Given the description of an element on the screen output the (x, y) to click on. 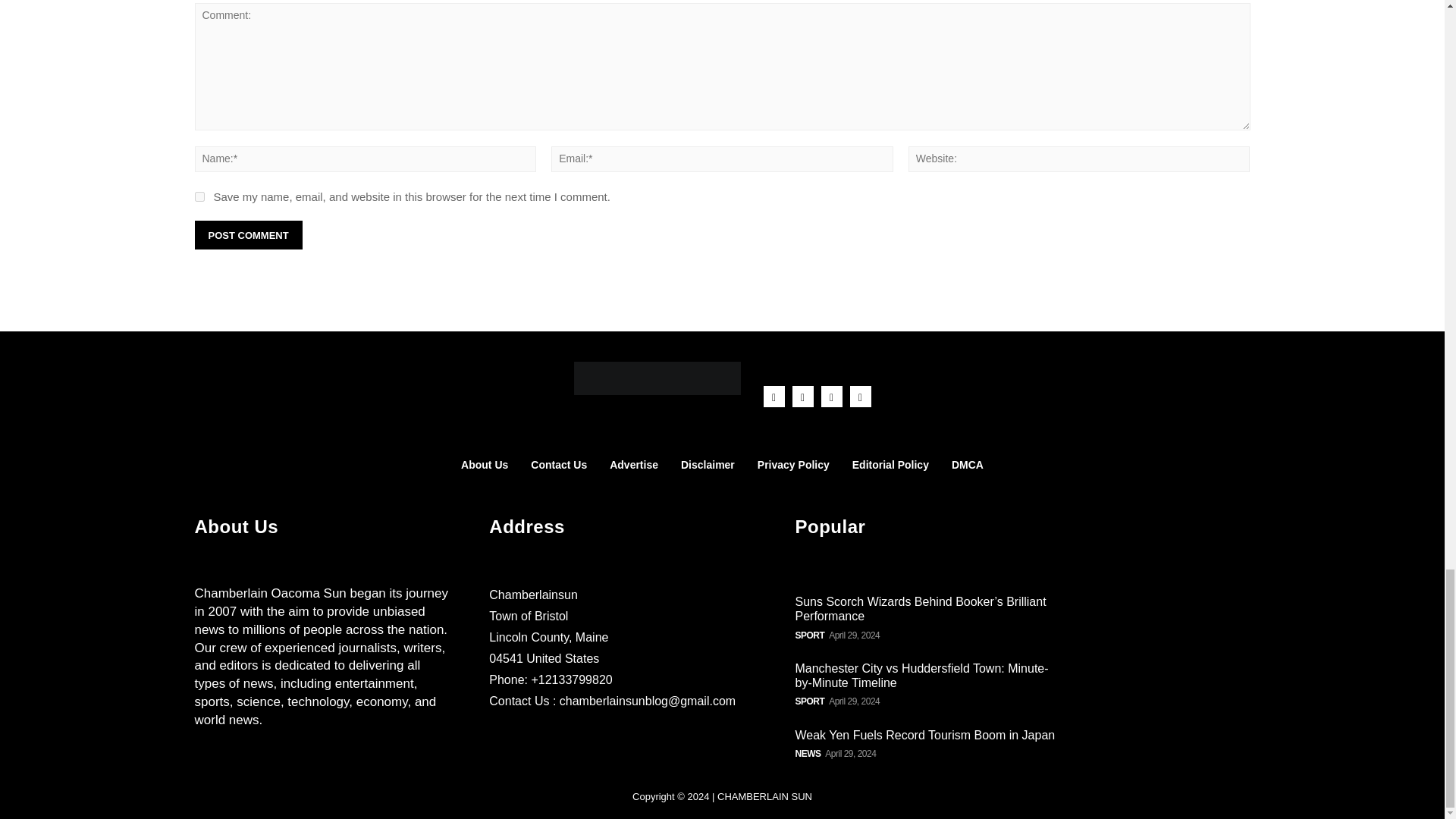
yes (198, 196)
Post Comment (247, 235)
